Given the description of an element on the screen output the (x, y) to click on. 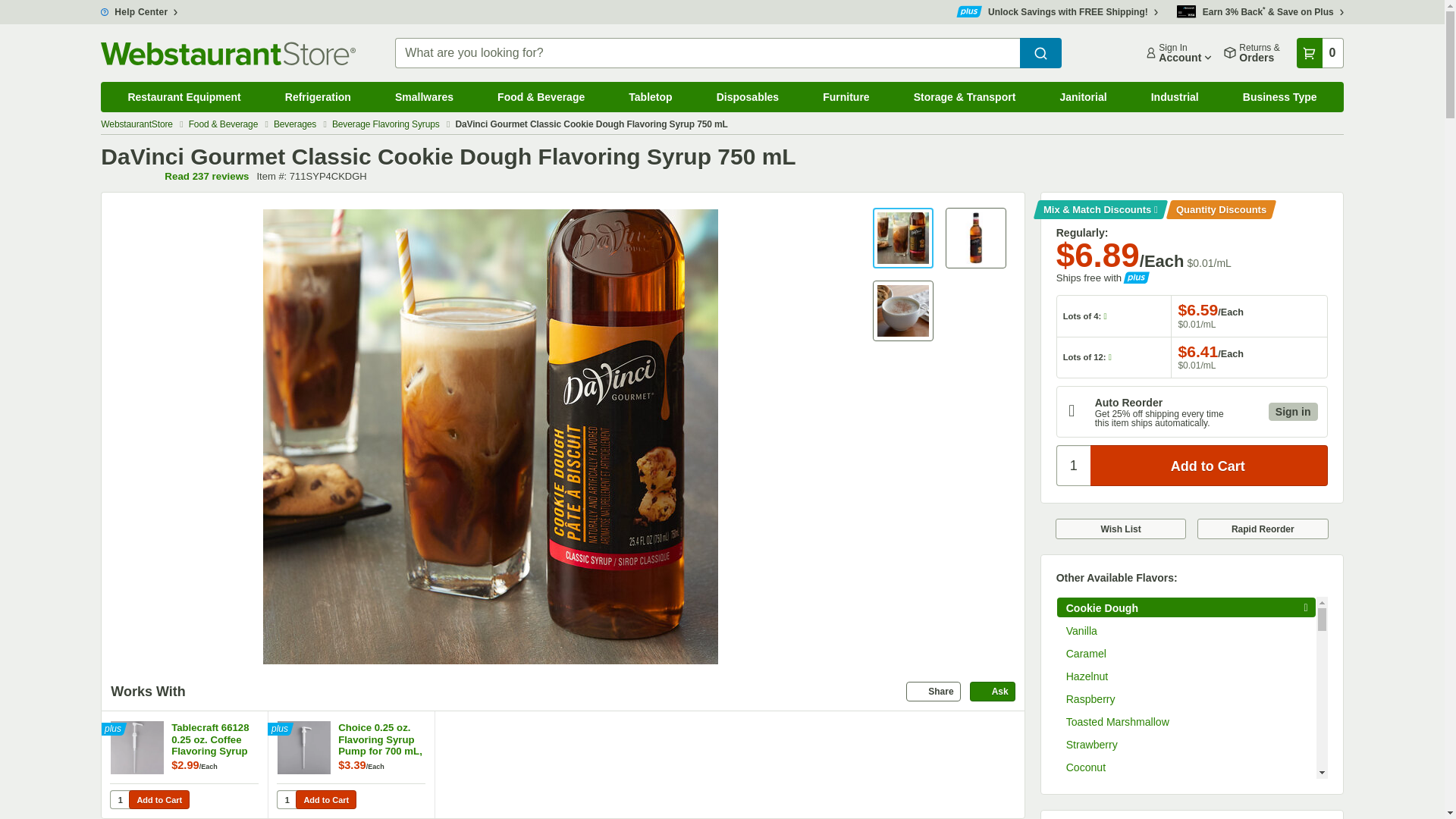
Janitorial (1178, 52)
Beverages (1082, 96)
Unlock Savings with FREE Shipping! (295, 123)
Disposables (1056, 11)
Add to Cart (748, 96)
Restaurant Equipment (325, 799)
Beverage Flavoring Syrups (183, 96)
Help Center (386, 123)
Add to Cart (138, 11)
show submenu for Janitorial (159, 799)
Tabletop (1135, 87)
Furniture (650, 96)
Search WebstaurantStore (845, 96)
